Given the description of an element on the screen output the (x, y) to click on. 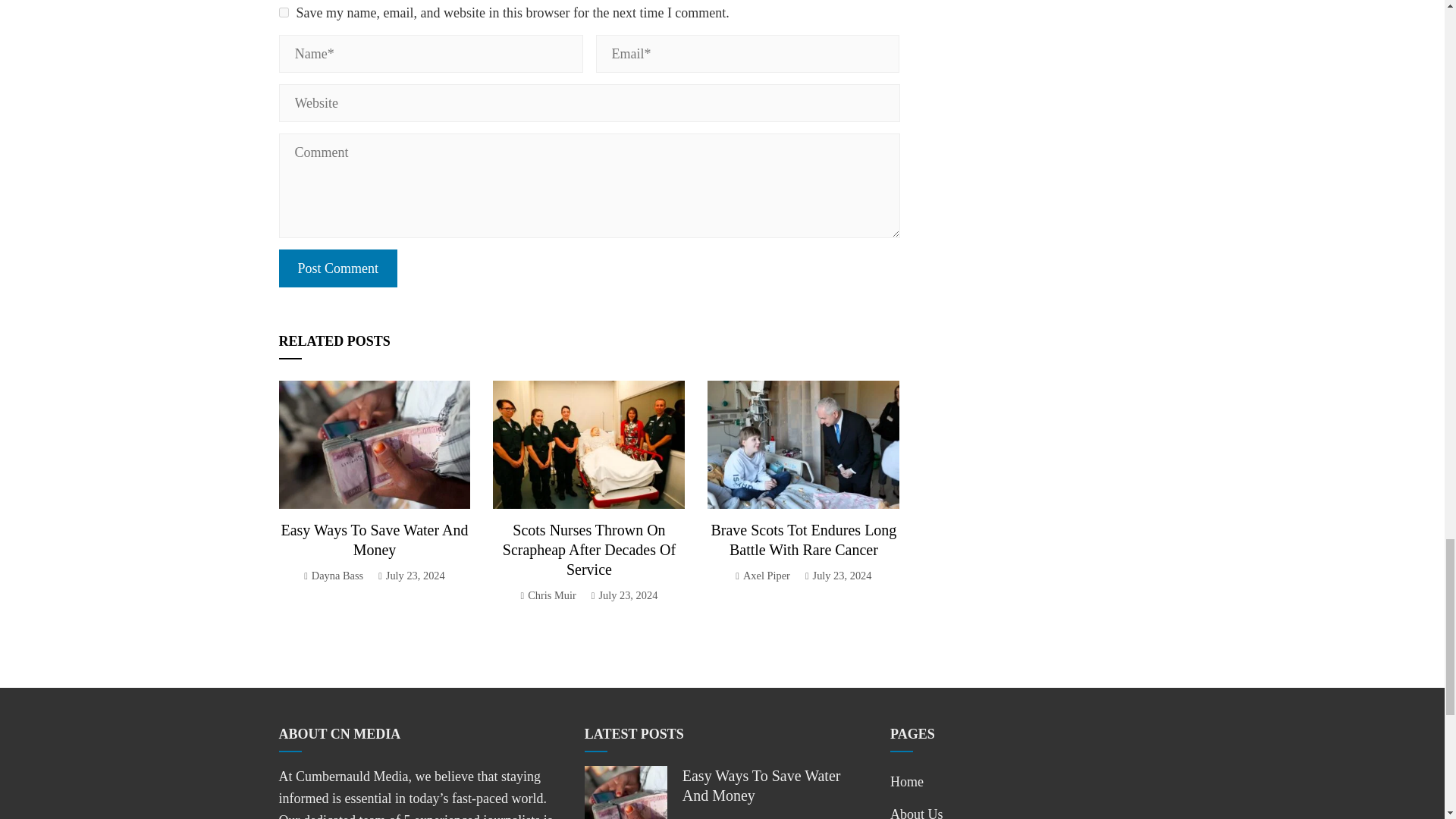
Easy Ways to Save Water and Money (374, 539)
yes (283, 12)
Easy Ways To Save Water And Money (374, 539)
Brave Scots Tot Endures Long Battle with Rare Cancer (803, 539)
Scots Nurses Thrown on Scrapheap After Decades of Service (588, 549)
Post Comment (338, 268)
Post Comment (338, 268)
